Given the description of an element on the screen output the (x, y) to click on. 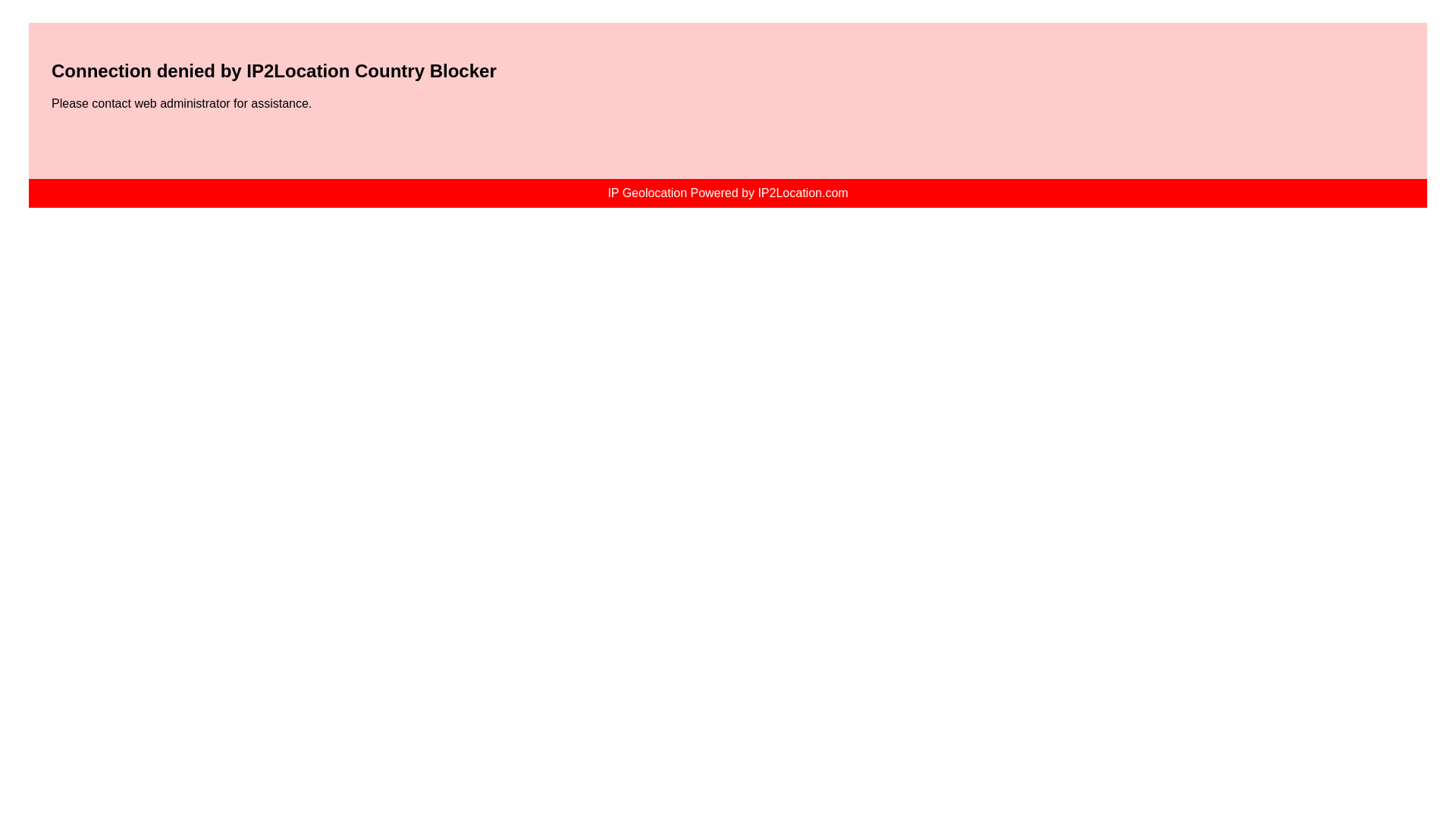
IP Geolocation Powered by IP2Location.com (727, 192)
